Given the description of an element on the screen output the (x, y) to click on. 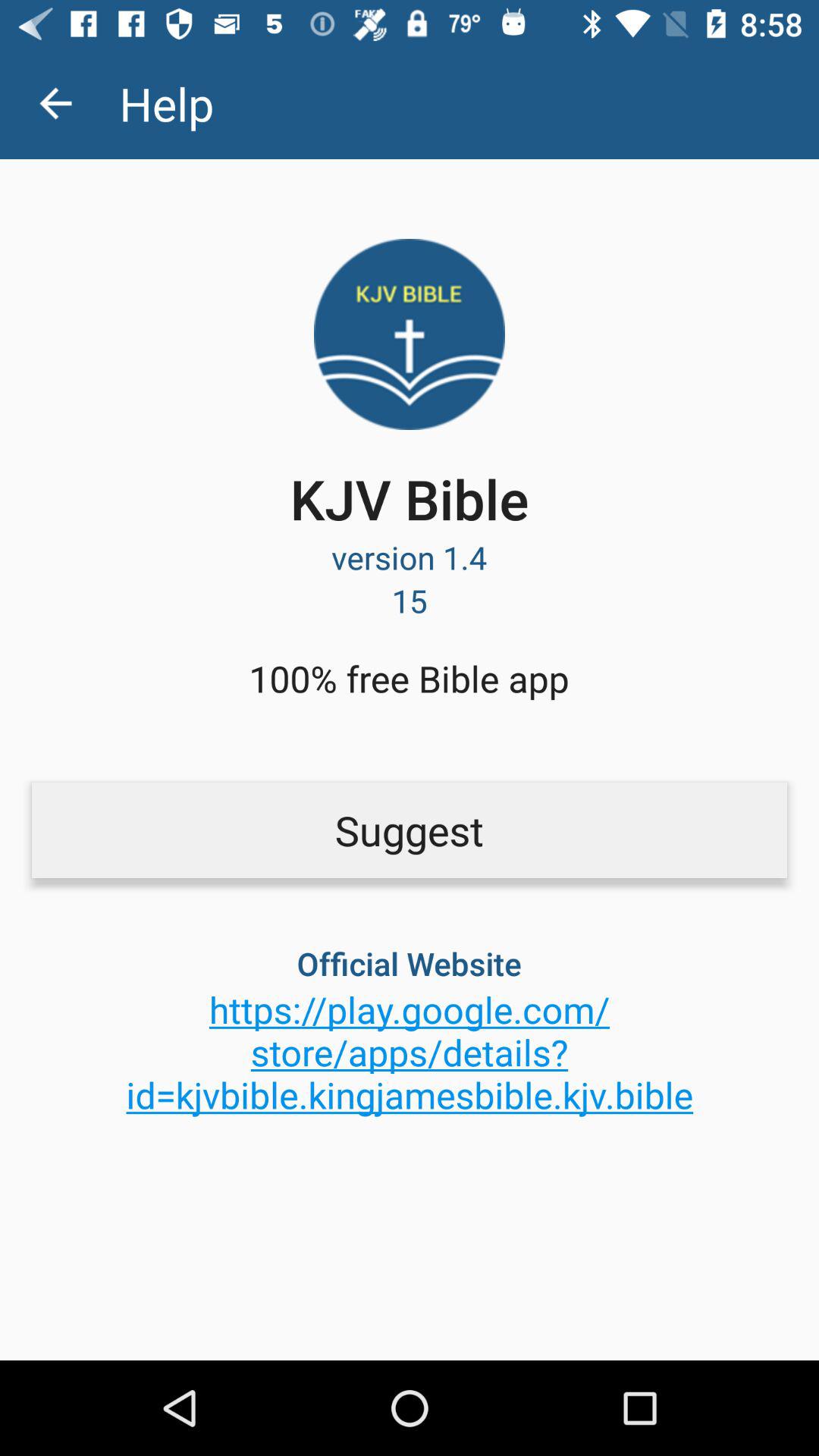
select icon below official website item (409, 1052)
